Given the description of an element on the screen output the (x, y) to click on. 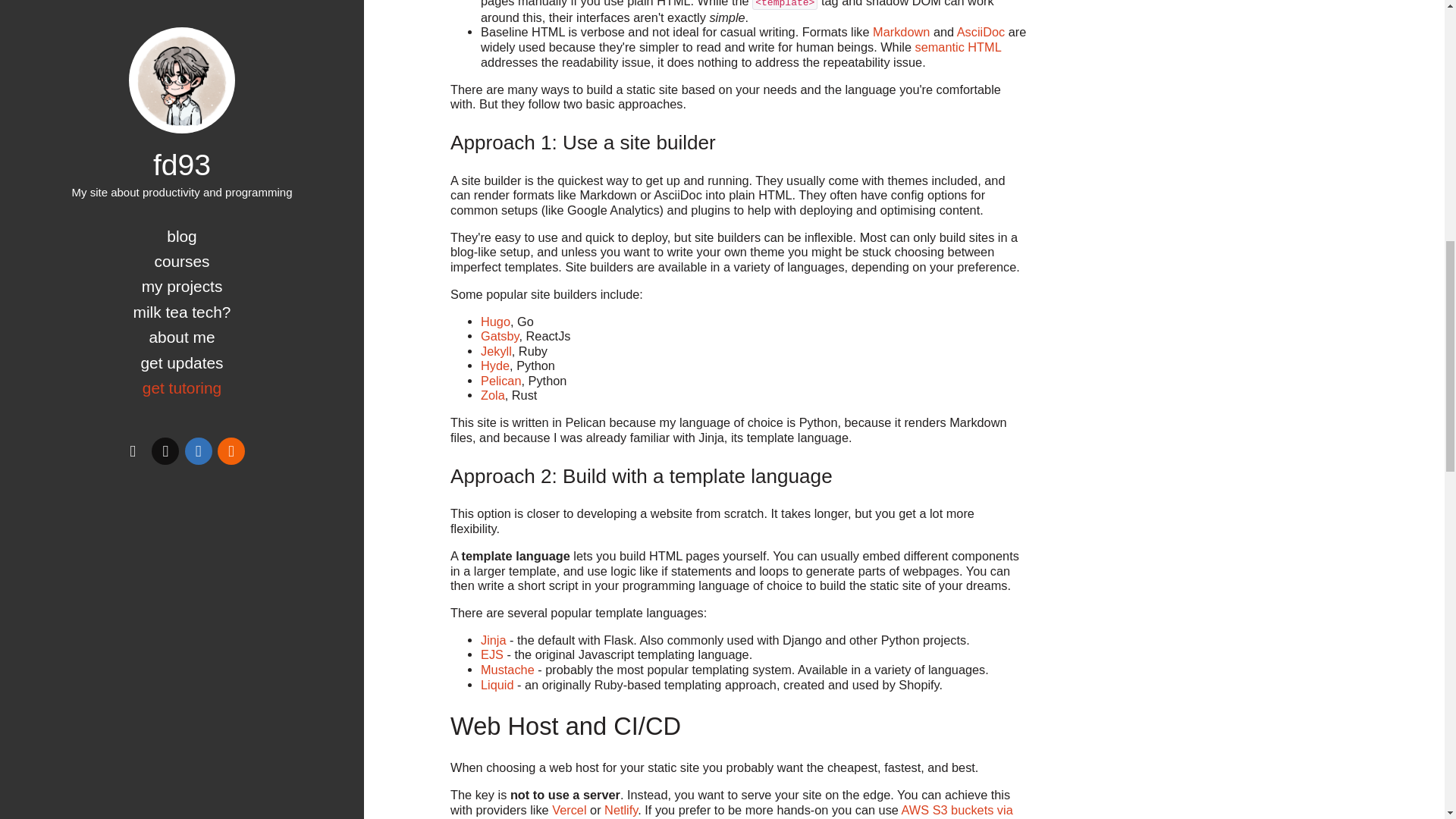
AWS S3 buckets via Amazon Cloudfront (731, 811)
Jekyll (496, 350)
Hugo (495, 321)
Hyde (494, 365)
Mustache (507, 669)
Markdown (901, 31)
Liquid (496, 684)
EJS (491, 653)
AsciiDoc (980, 31)
Netlify (620, 809)
